Given the description of an element on the screen output the (x, y) to click on. 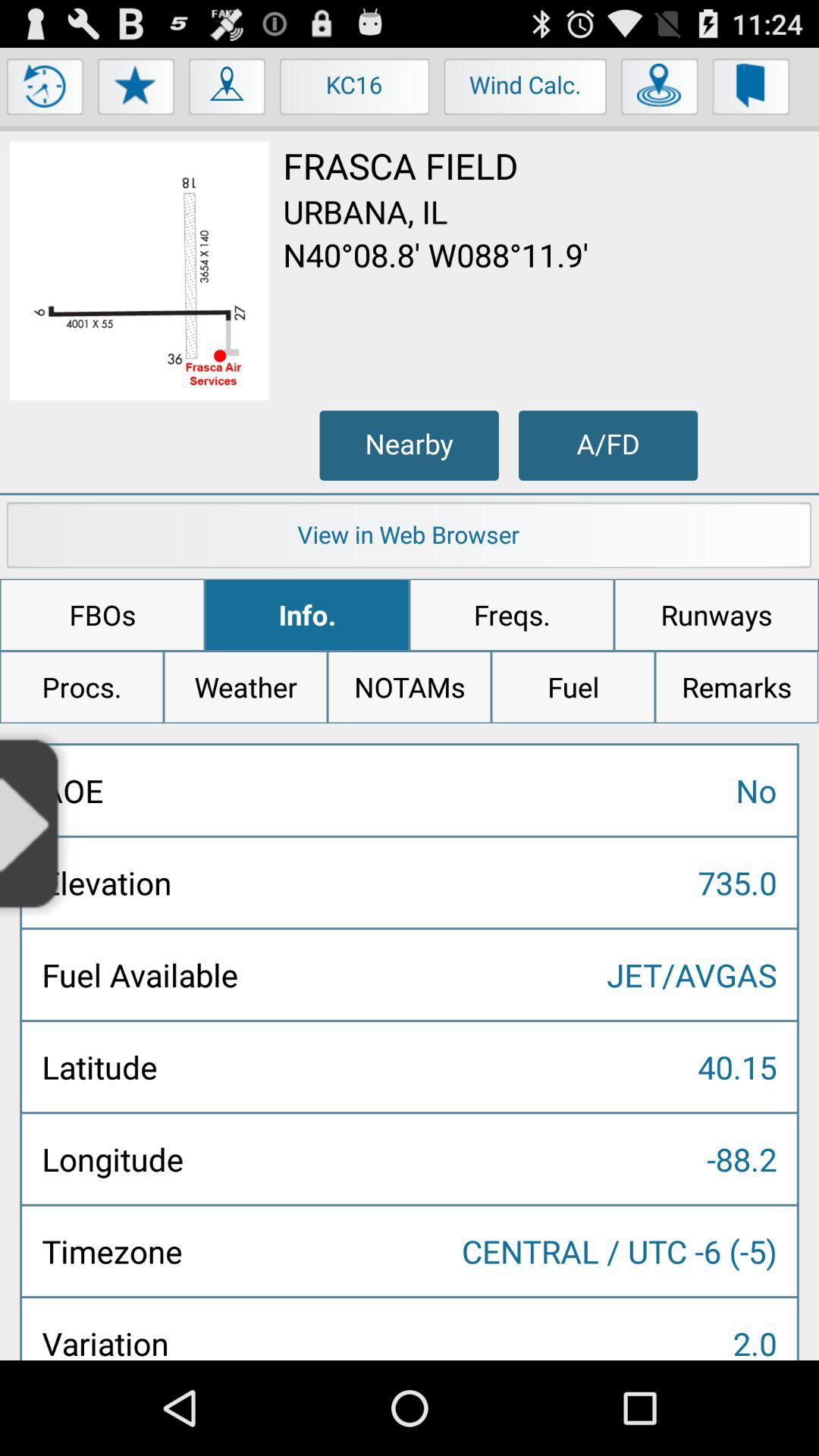
click the app to the left of info. icon (102, 615)
